Given the description of an element on the screen output the (x, y) to click on. 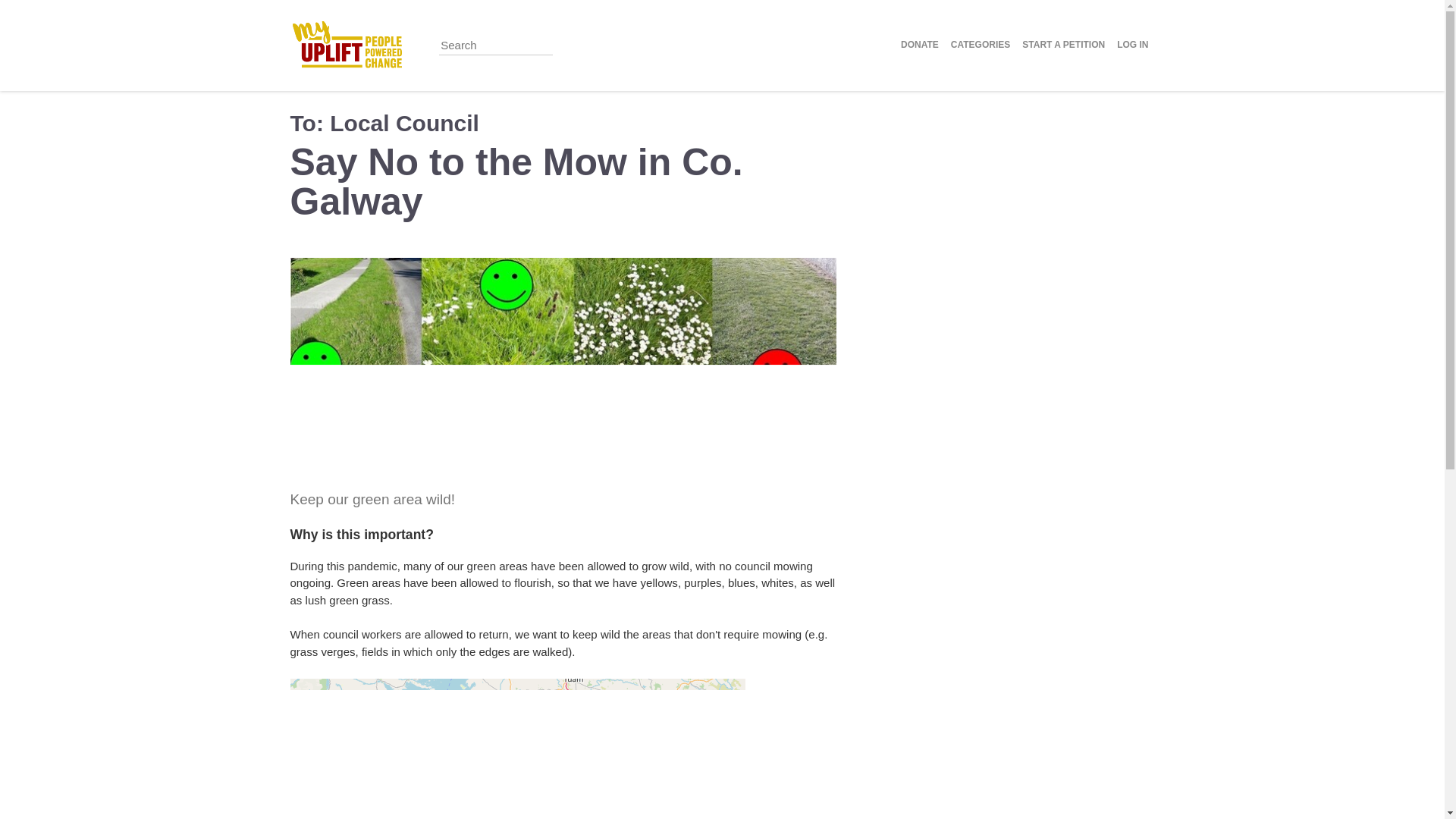
DONATE (919, 45)
CATEGORIES (980, 45)
START A PETITION (1063, 45)
LOG IN (1132, 45)
